Given the description of an element on the screen output the (x, y) to click on. 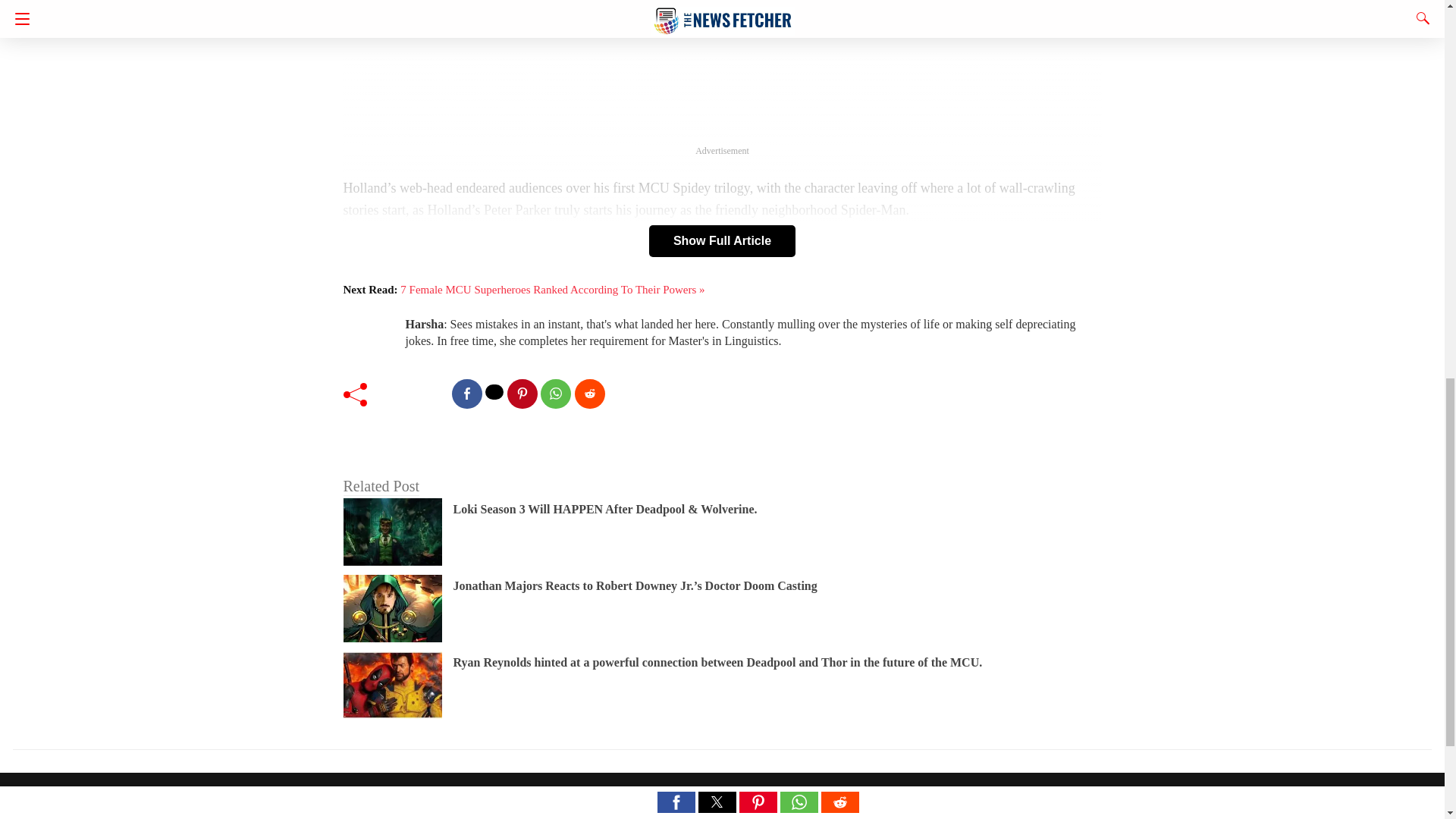
3rd party ad content (722, 66)
Show Full Article (721, 241)
facebook share (466, 393)
whatsapp share (555, 393)
reddit share (590, 393)
Facebook like button (414, 392)
pinterest share (521, 393)
twitter share (493, 391)
